Given the description of an element on the screen output the (x, y) to click on. 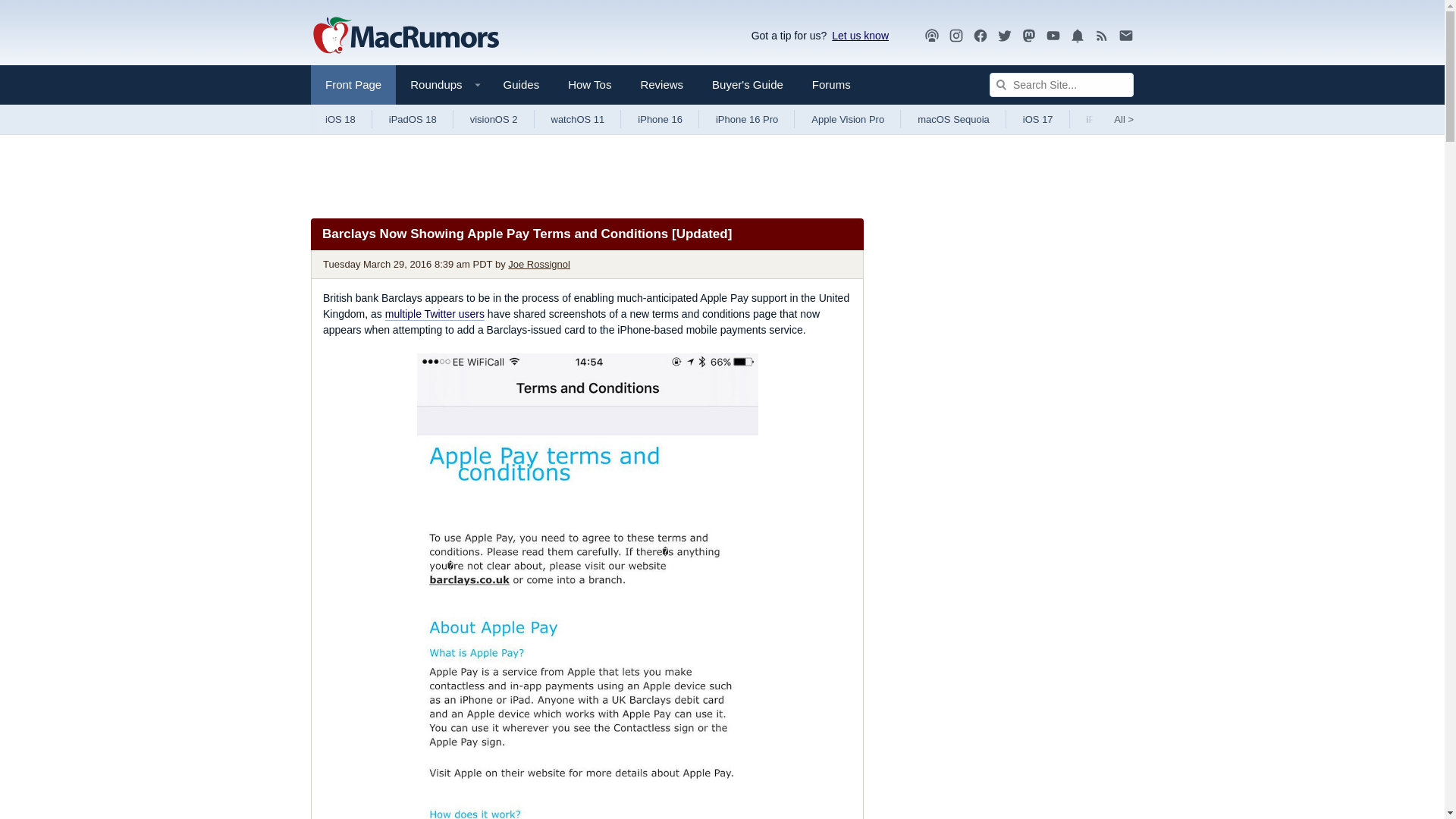
Twitter (1004, 35)
Twitter (1004, 35)
Roundups (441, 84)
Podcast (931, 35)
Guides (521, 84)
Instagram (956, 35)
Notifications (1077, 35)
MacRumors RSS Feed (1101, 35)
Newsletter (1126, 35)
Roundups (441, 84)
